Given the description of an element on the screen output the (x, y) to click on. 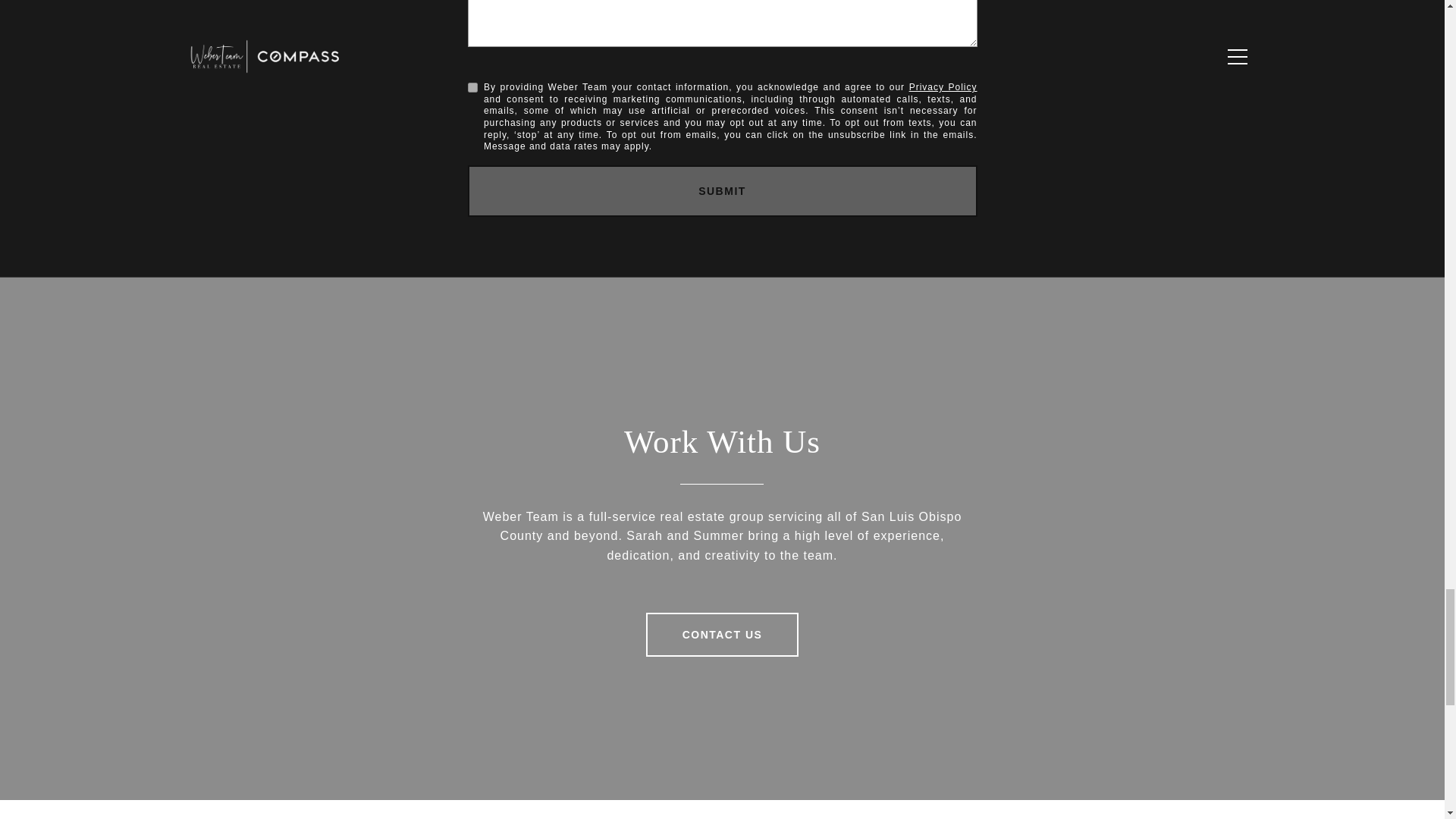
on (472, 87)
